Given the description of an element on the screen output the (x, y) to click on. 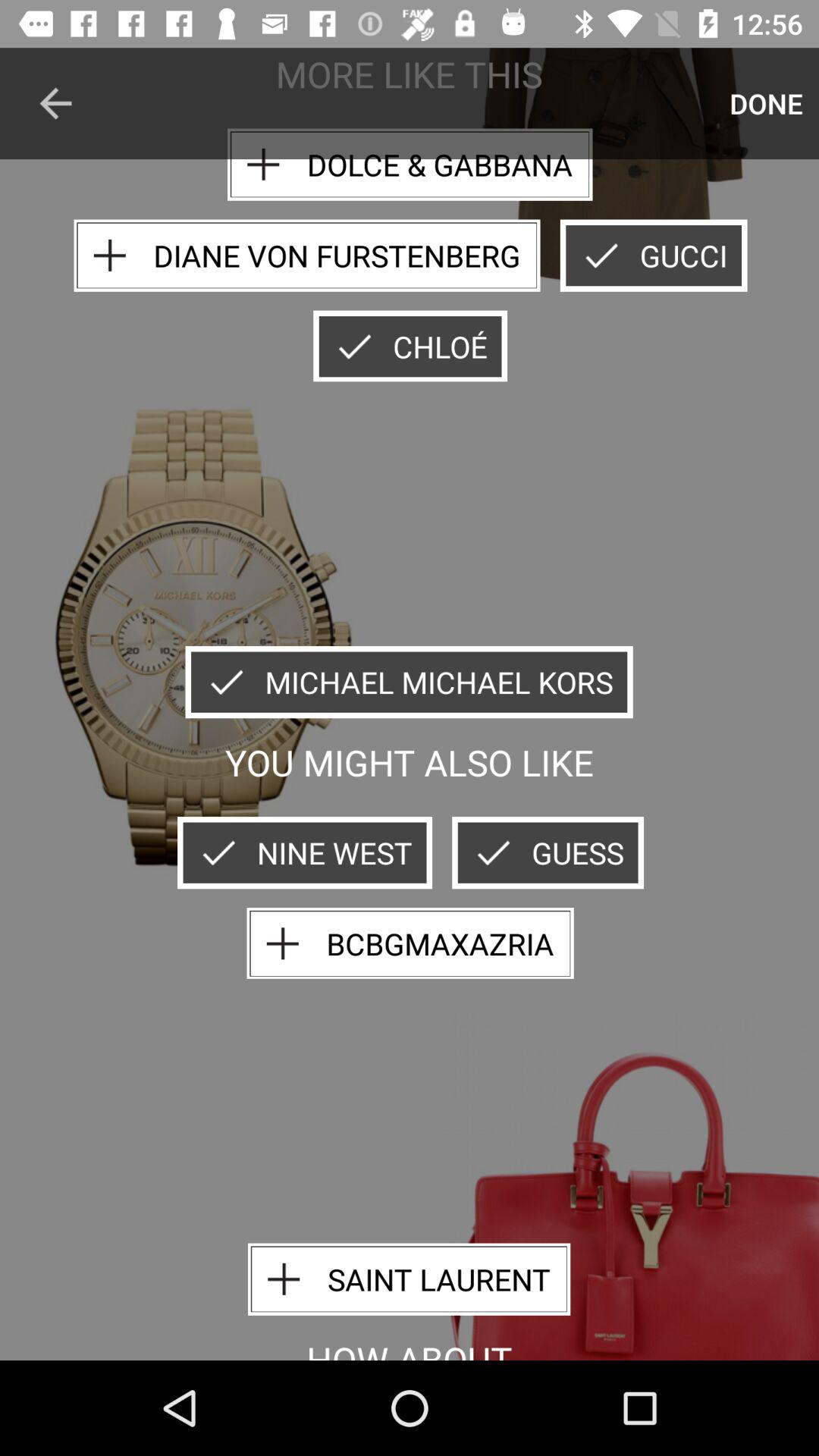
turn on the item next to the guess item (304, 852)
